Given the description of an element on the screen output the (x, y) to click on. 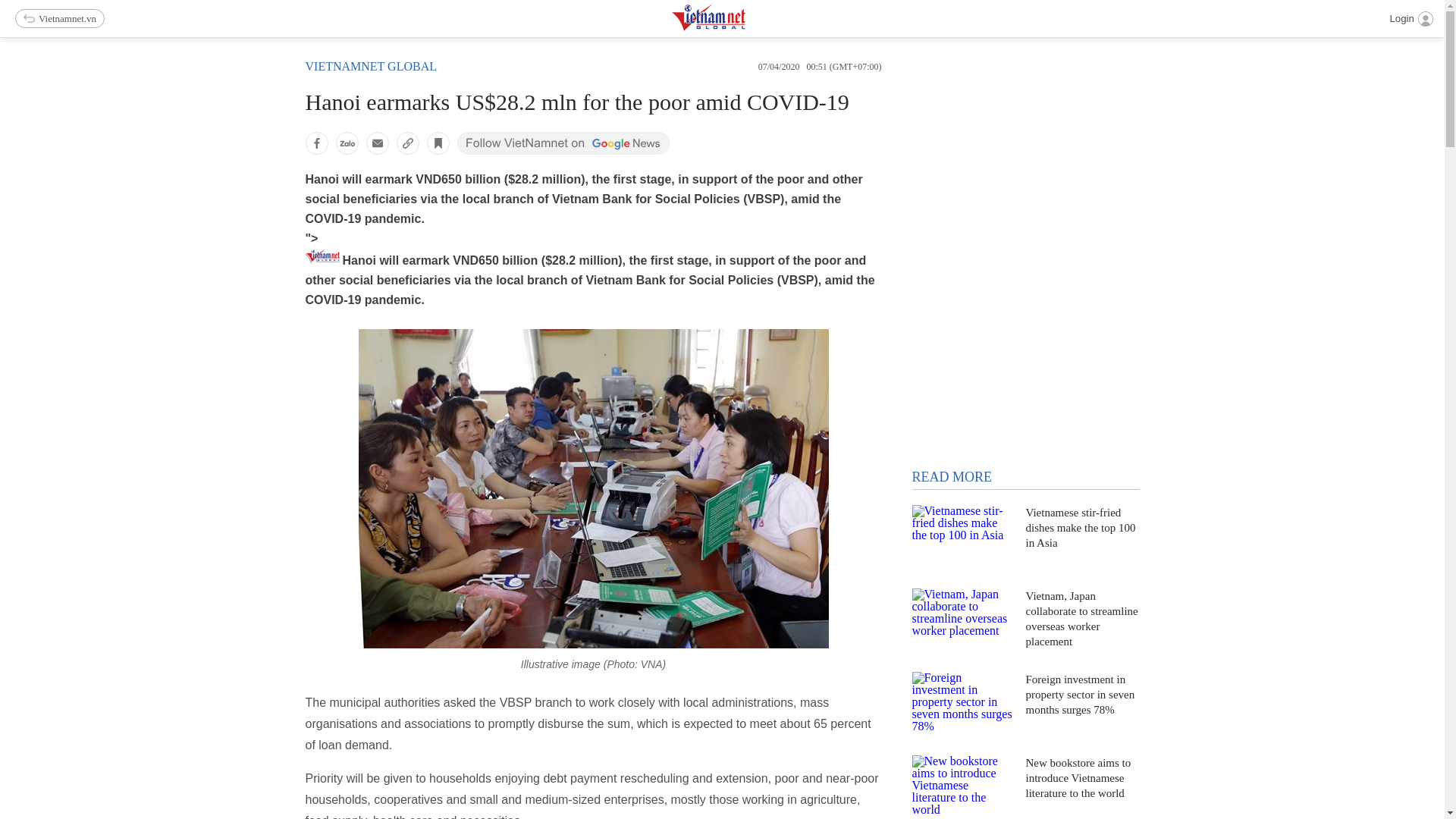
Vietnamese stir-fried dishes make the top 100 in Asia (962, 539)
Vietnamnet Global (746, 26)
Share the post on facebook (315, 142)
VIETNAMNET GLOBAL (369, 65)
Vietnamnet.vn (59, 18)
Login (1410, 18)
Copy link (407, 142)
Vietnamnet global (369, 65)
Save post (437, 142)
Share the post on email (376, 142)
Share the post on zalo (346, 142)
